Given the description of an element on the screen output the (x, y) to click on. 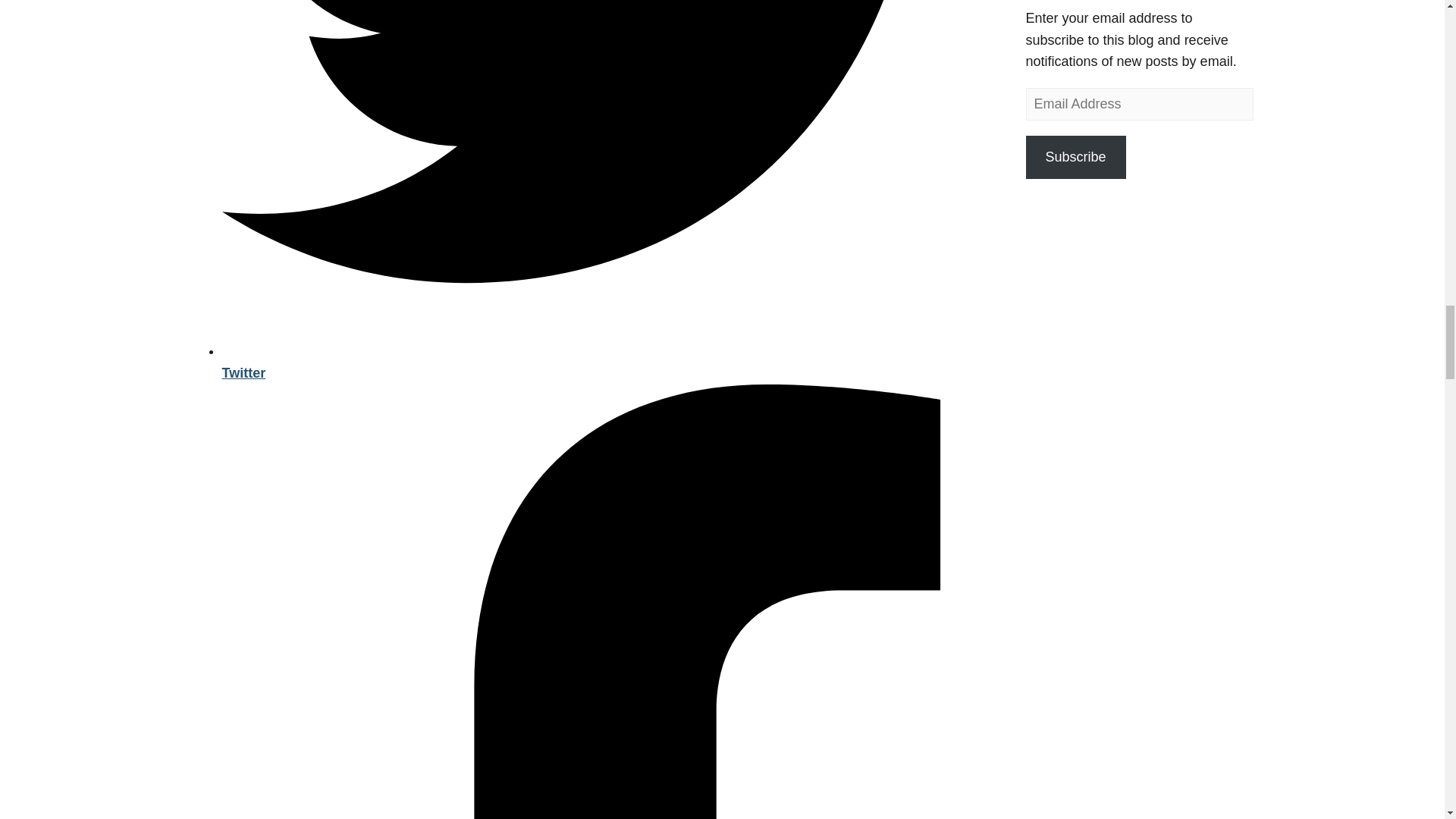
Twitter (607, 361)
